Given the description of an element on the screen output the (x, y) to click on. 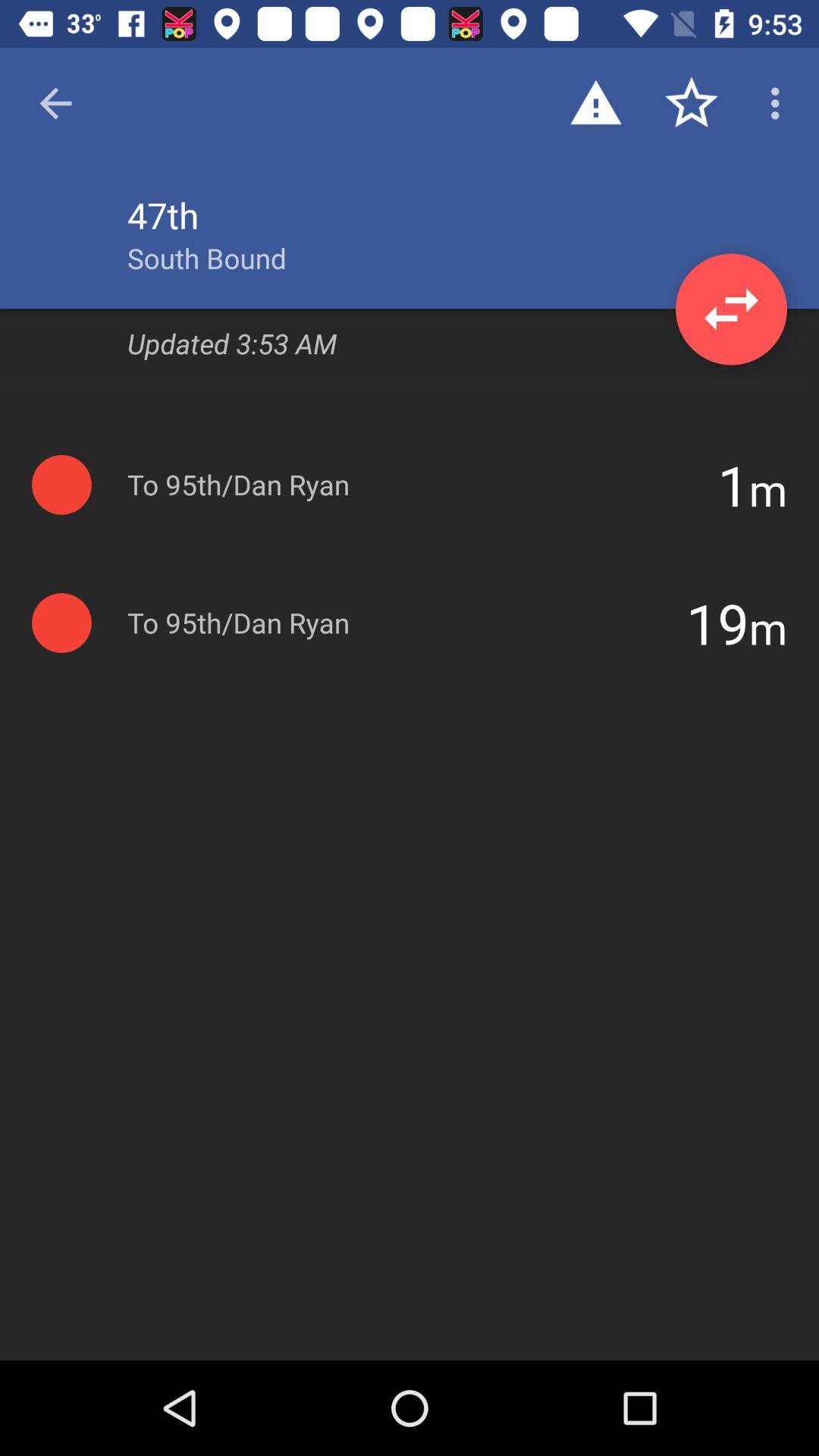
tap item to the left of the m (717, 622)
